Given the description of an element on the screen output the (x, y) to click on. 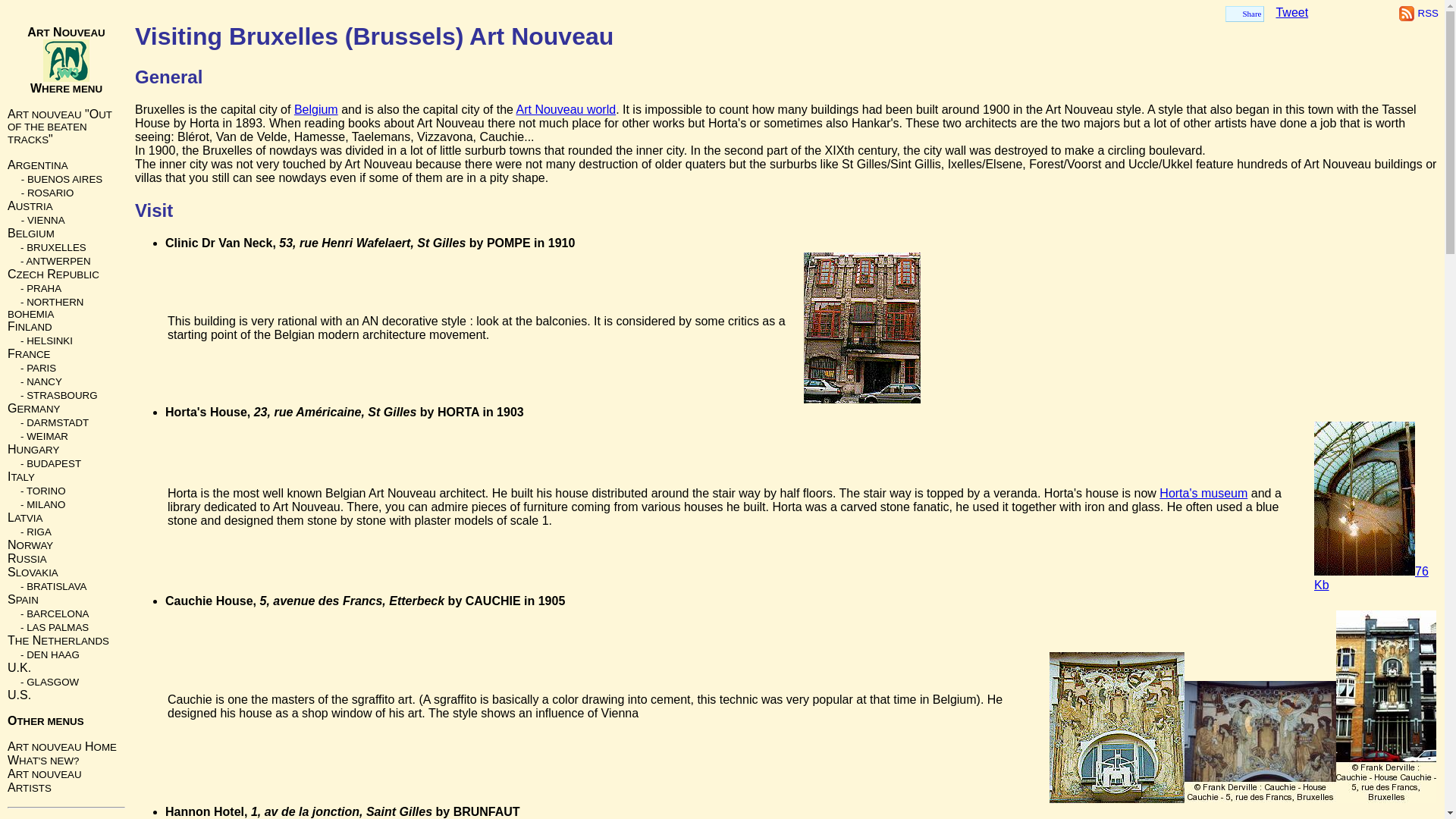
FRANCE (28, 353)
WEIMAR (47, 436)
PRAHA (43, 288)
AUSTRIA (29, 205)
SLOVAKIA (32, 571)
BRUXELLES (55, 247)
PARIS (41, 367)
BUENOS AIRES (64, 179)
NORWAY (29, 544)
FINLAND (29, 326)
GERMANY (33, 408)
THE NETHERLANDS (58, 640)
NANCY (44, 381)
HUNGARY (33, 449)
U.K. (18, 667)
